Given the description of an element on the screen output the (x, y) to click on. 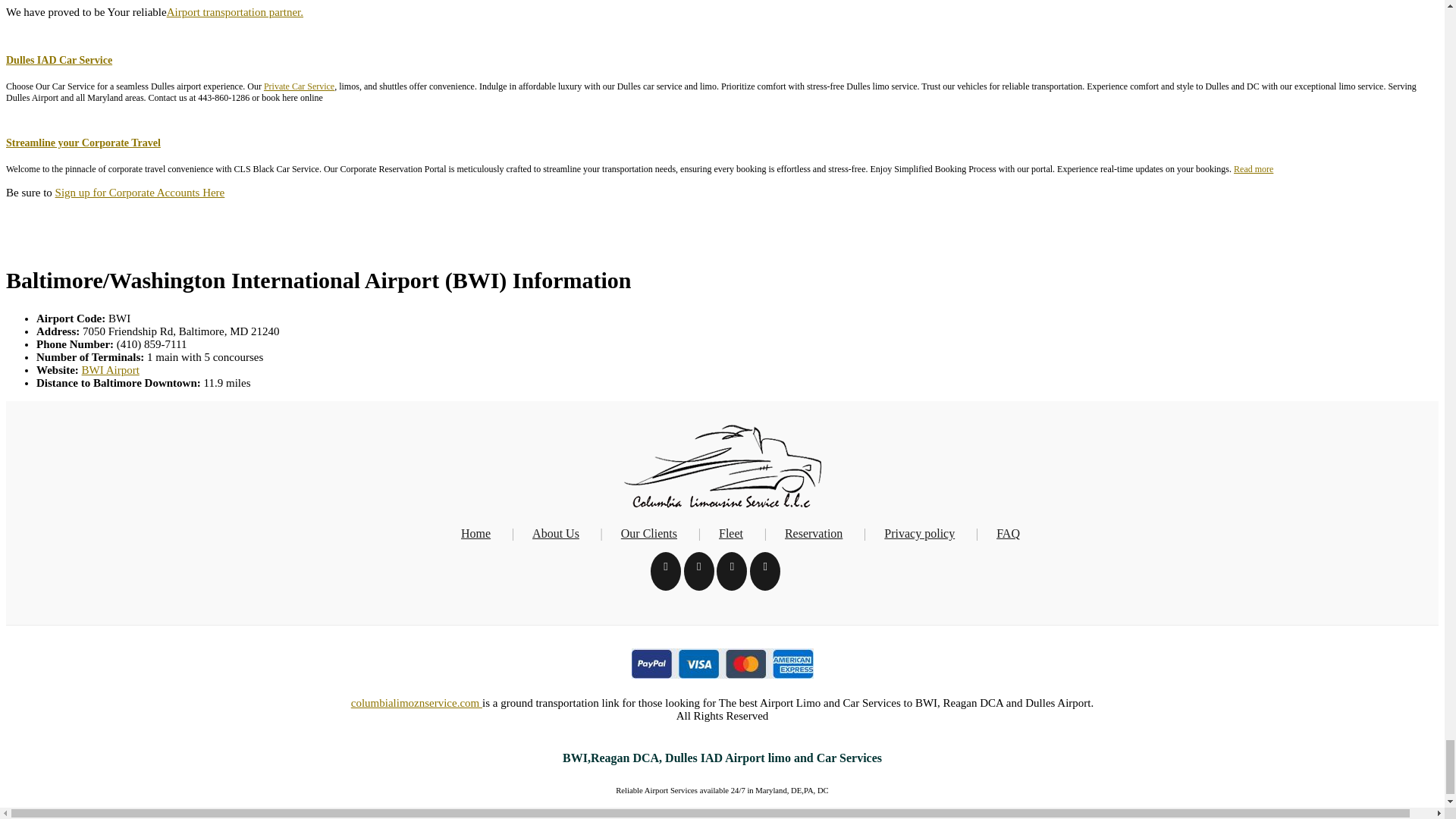
Fleet (730, 533)
FAQ (1007, 533)
Sign up for Corporate Accounts Here (140, 192)
Privacy policy (919, 533)
About Us (555, 533)
Dulles IAD Car Service (58, 60)
Airport transportation partner. (234, 11)
Private Car Service (298, 86)
Read more (1252, 168)
Streamline your Corporate Travel (82, 142)
Home (475, 533)
BWI Airport (110, 369)
Our Clients (649, 533)
Reservation (813, 533)
